Given the description of an element on the screen output the (x, y) to click on. 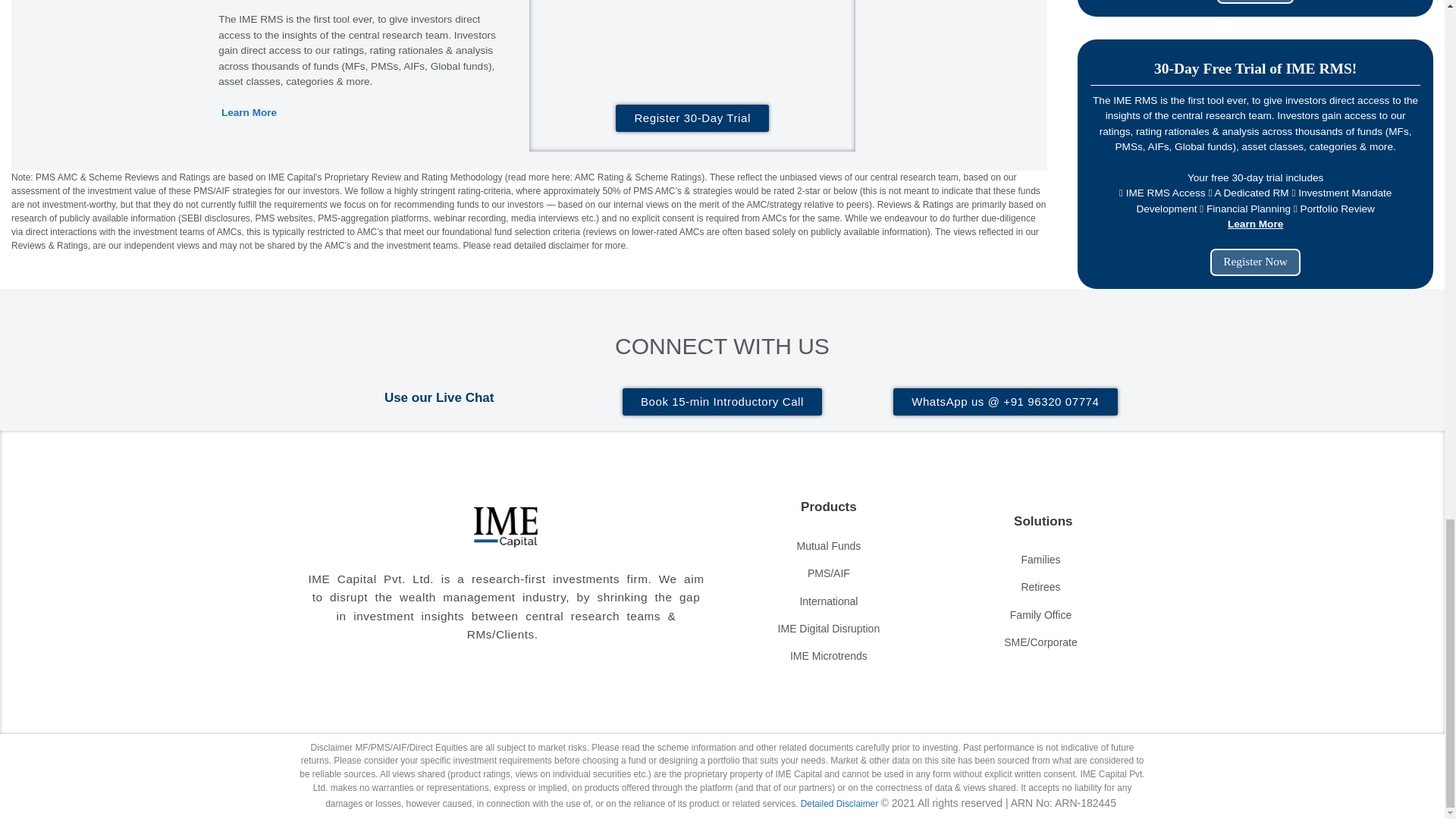
Learn More (248, 112)
Register 30-Day Trial (691, 117)
